Given the description of an element on the screen output the (x, y) to click on. 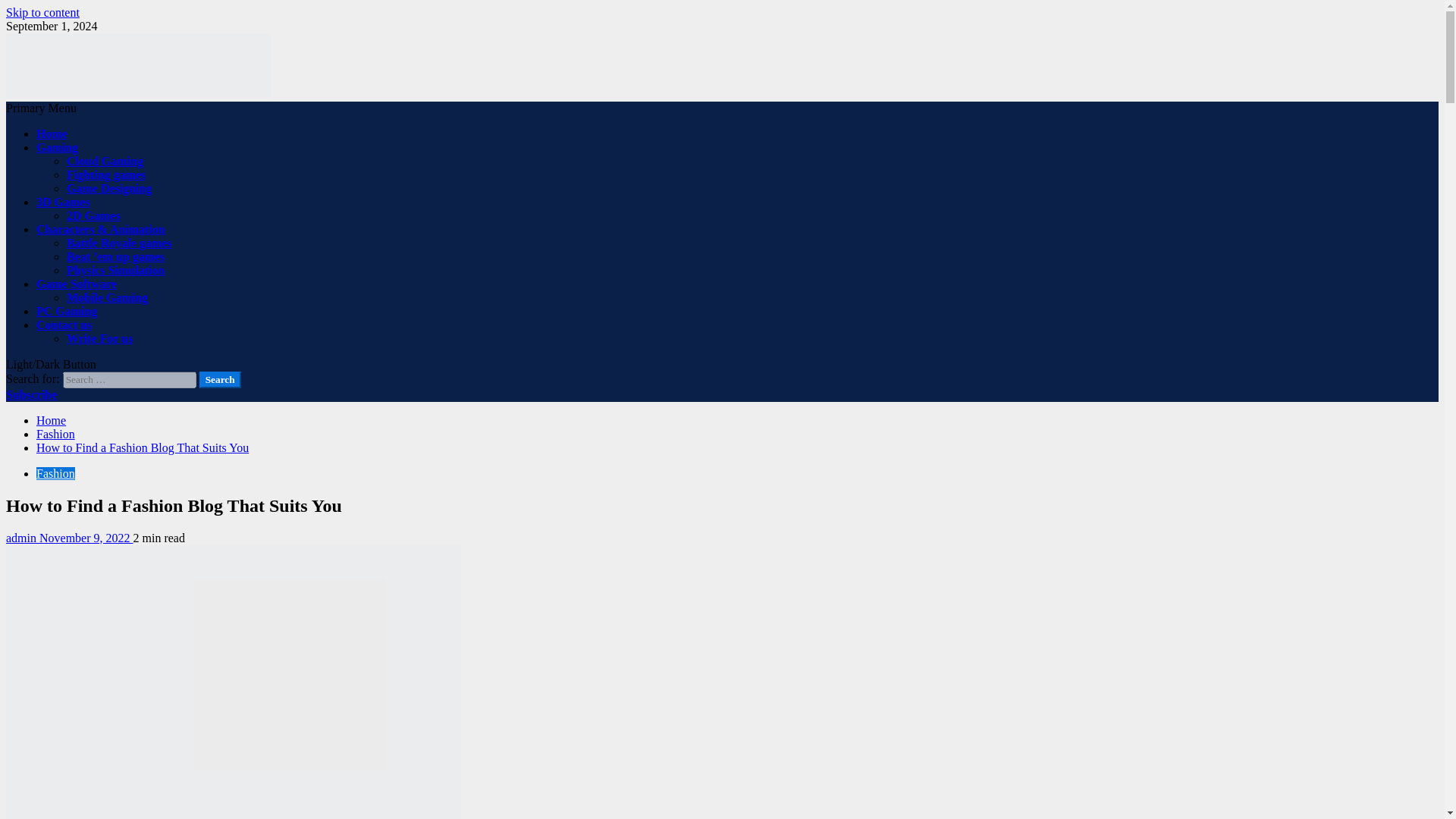
Search (220, 379)
Battle Royale games (118, 242)
How to Find a Fashion Blog That Suits You (233, 682)
Skip to content (42, 11)
November 9, 2022 (86, 537)
Write For us (99, 338)
Gaming (57, 146)
Home (51, 133)
3D Games (63, 201)
Game Software (76, 283)
